Given the description of an element on the screen output the (x, y) to click on. 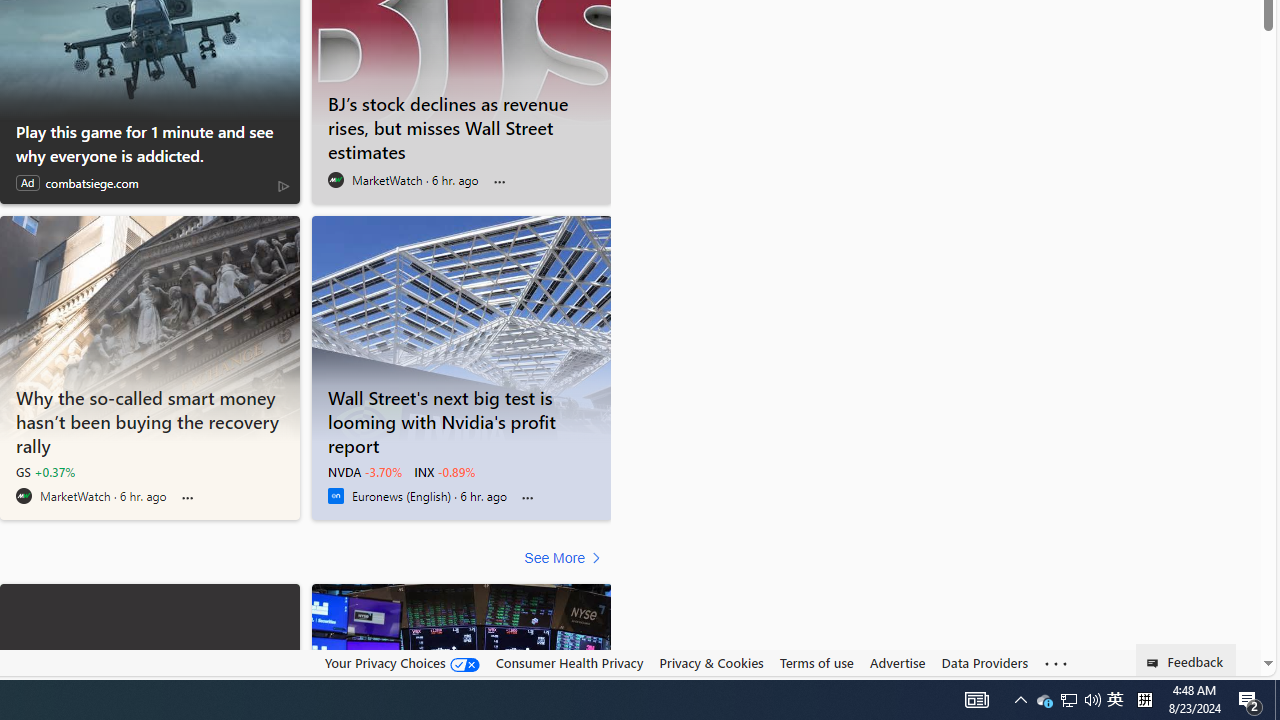
Feedback (1186, 659)
Data Providers (983, 663)
Data Providers (983, 662)
MarketWatch (23, 495)
AdChoices (283, 184)
Privacy & Cookies (711, 662)
See more (1055, 664)
Class: oneFooter_seeMore-DS-EntryPoint1-1 (1055, 663)
GS +0.37% (45, 471)
Terms of use (816, 662)
Euronews (English) (335, 495)
